Given the description of an element on the screen output the (x, y) to click on. 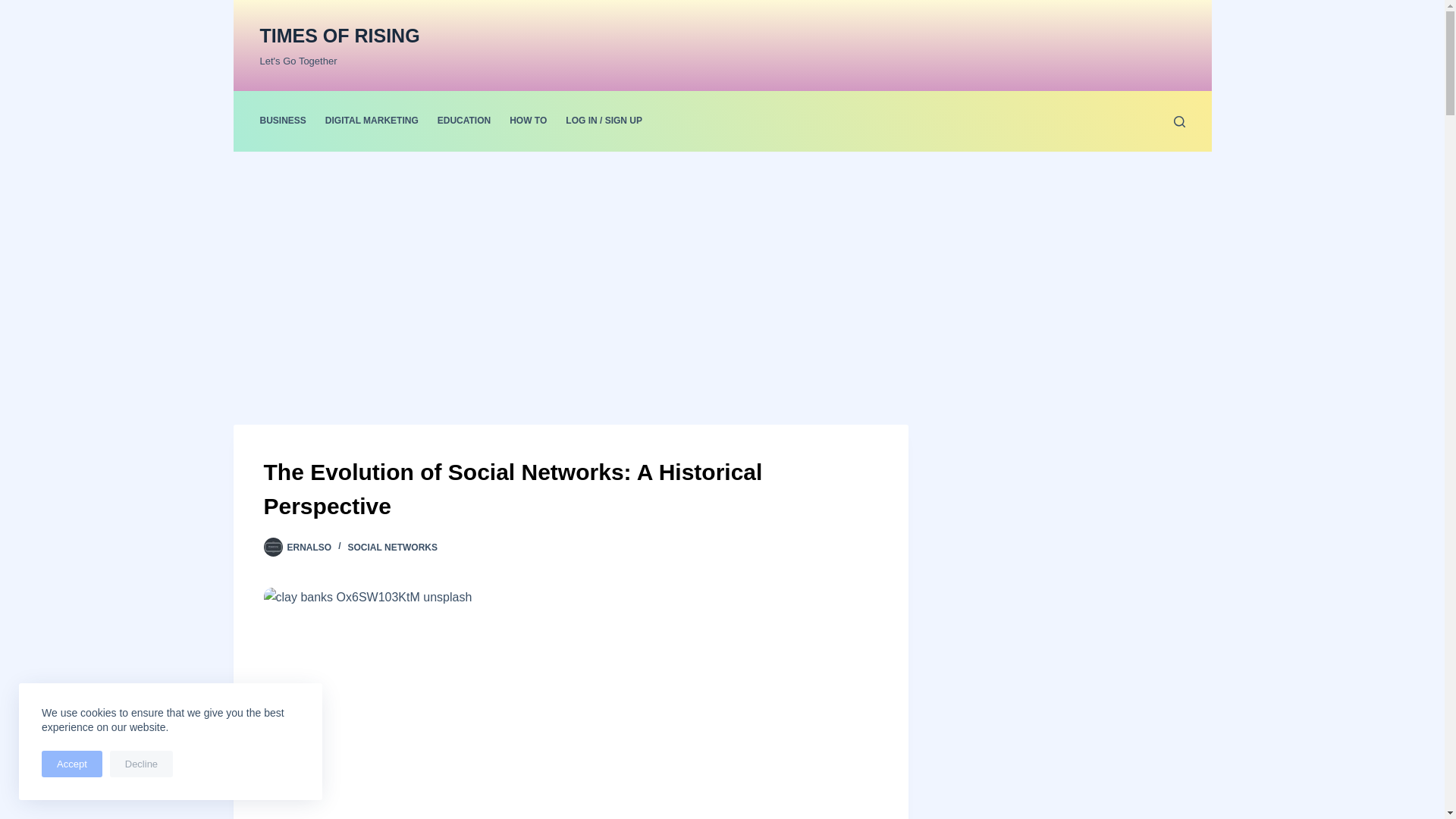
The Evolution of Social Networks: A Historical Perspective (570, 489)
Decline (141, 764)
TIMES OF RISING (339, 35)
HOW TO (528, 120)
DIGITAL MARKETING (371, 120)
Posts by Ernalso (308, 547)
Accept (71, 764)
SOCIAL NETWORKS (392, 547)
BUSINESS (287, 120)
Skip to content (15, 7)
ERNALSO (308, 547)
EDUCATION (463, 120)
